Given the description of an element on the screen output the (x, y) to click on. 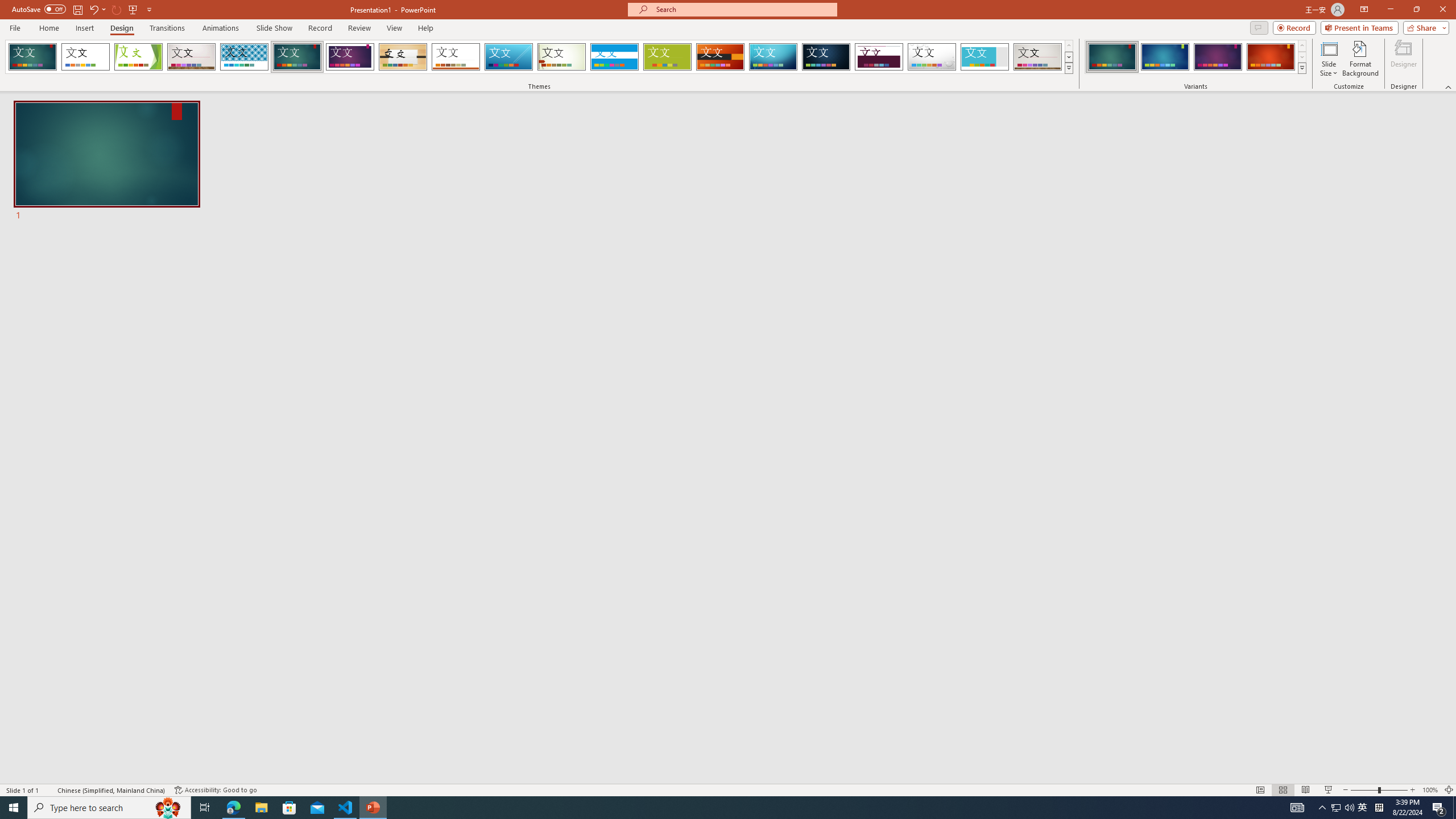
Spell Check  (49, 790)
Berlin Loading Preview... (720, 56)
Damask Loading Preview... (826, 56)
Ion Variant 3 (1217, 56)
Ion Variant 1 (1112, 56)
Ion Variant 2 (1164, 56)
